Given the description of an element on the screen output the (x, y) to click on. 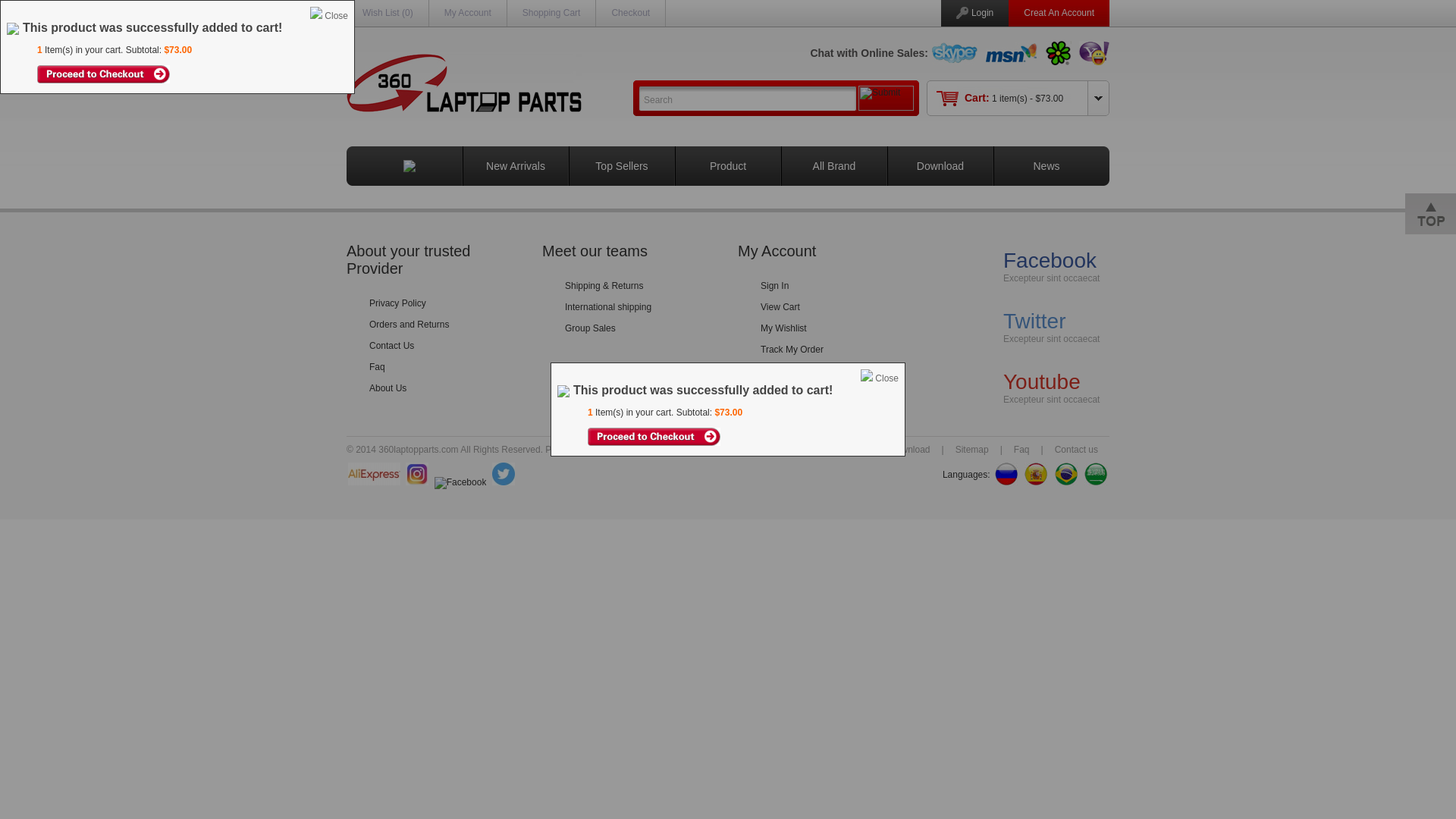
Contact Us Element type: text (391, 345)
New Arrivals Element type: text (515, 166)
Cart: 1 item(s) - $73.00 Element type: text (1013, 98)
Twitter Element type: text (1034, 320)
Top Sellers Element type: text (621, 166)
View Cart Element type: text (780, 306)
Faq Element type: text (1021, 449)
News Element type: text (1045, 166)
About us Element type: text (846, 449)
Contact us Element type: text (1076, 449)
Shopping Cart Element type: text (551, 12)
Search Element type: hover (747, 97)
My Account Element type: text (467, 12)
Search Element type: text (747, 97)
360 laptop parts limited a laptop parts supplyer. Element type: hover (463, 82)
Close Element type: text (336, 15)
Wish List (0) Element type: text (387, 12)
Download Element type: text (939, 166)
Creat An Account Element type: text (1058, 12)
Product Element type: text (727, 166)
Privacy Policy Element type: text (397, 303)
My Wishlist Element type: text (783, 328)
Youtube Element type: text (1041, 381)
Close Element type: text (886, 378)
Checkout Element type: text (630, 12)
International shipping Element type: text (607, 306)
Sign In Element type: text (774, 285)
Orders and Returns Element type: text (408, 324)
360laptopparts.com Element type: text (636, 449)
Shipping & Returns Element type: text (603, 285)
Facebook Element type: text (1049, 260)
Login Element type: text (982, 12)
Group Sales Element type: text (589, 328)
Download Element type: text (909, 449)
Sitemap Element type: text (972, 449)
About Us Element type: text (387, 387)
Track My Order Element type: text (791, 349)
All Brand Element type: text (834, 166)
Faq Element type: text (377, 366)
